Given the description of an element on the screen output the (x, y) to click on. 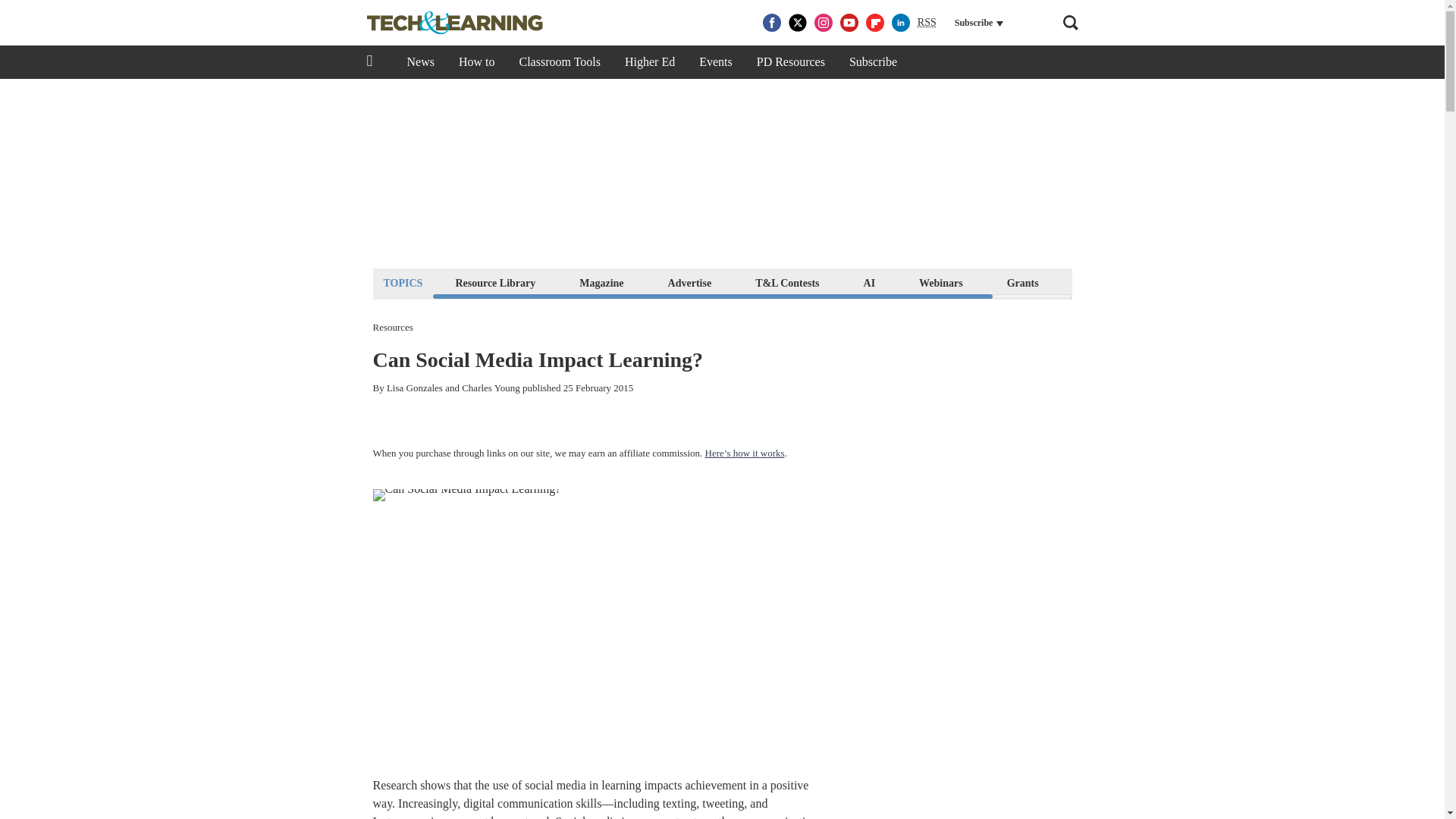
Advertise (689, 282)
PD Resources (790, 61)
Subscribe (872, 61)
Grants (1022, 282)
Magazine (600, 282)
Higher Ed (649, 61)
What to Buy (1111, 282)
How to (476, 61)
Lisa Gonzales and Charles Young (453, 387)
Webinars (941, 282)
